Given the description of an element on the screen output the (x, y) to click on. 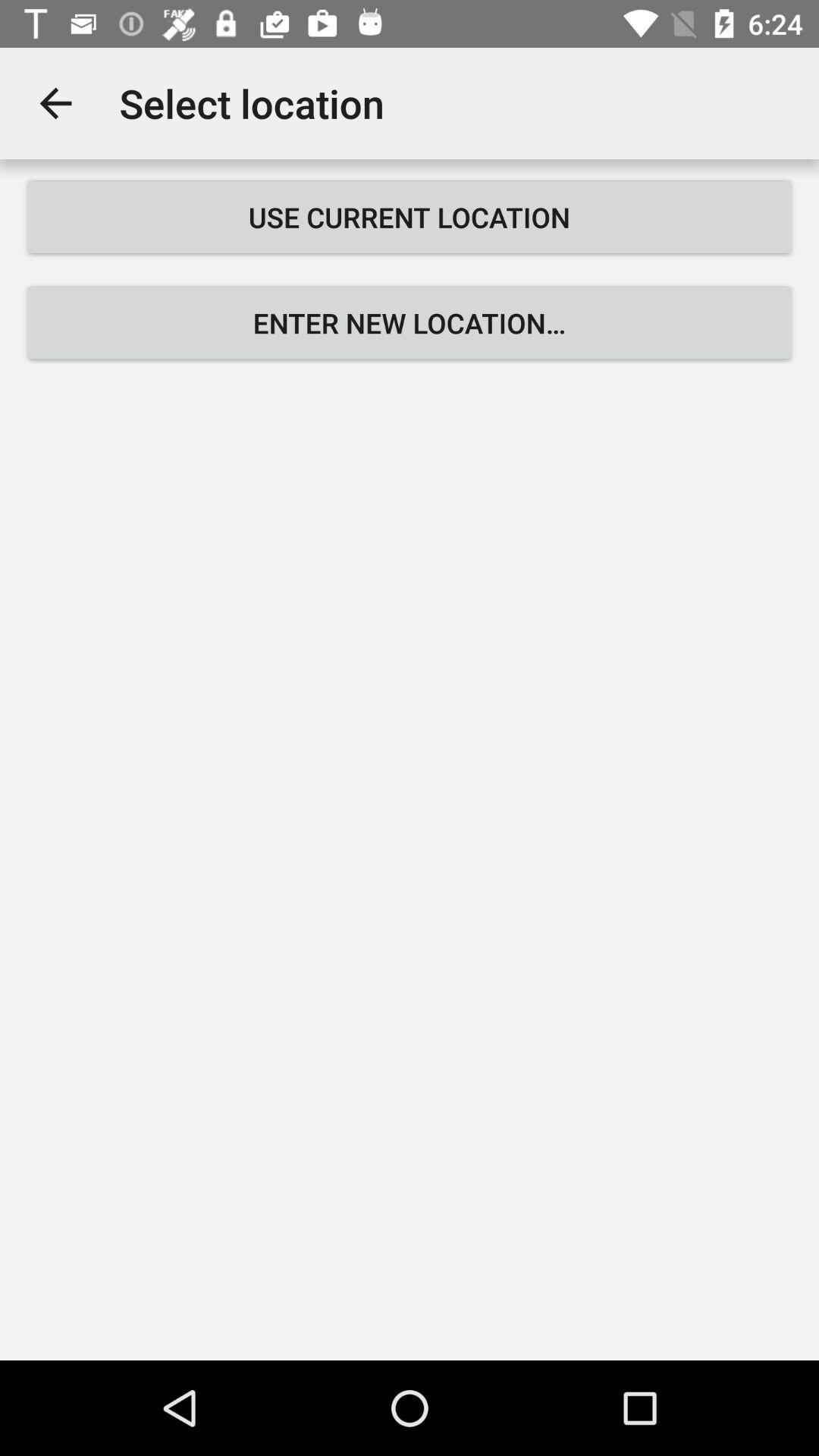
launch the icon next to the select location (55, 103)
